Given the description of an element on the screen output the (x, y) to click on. 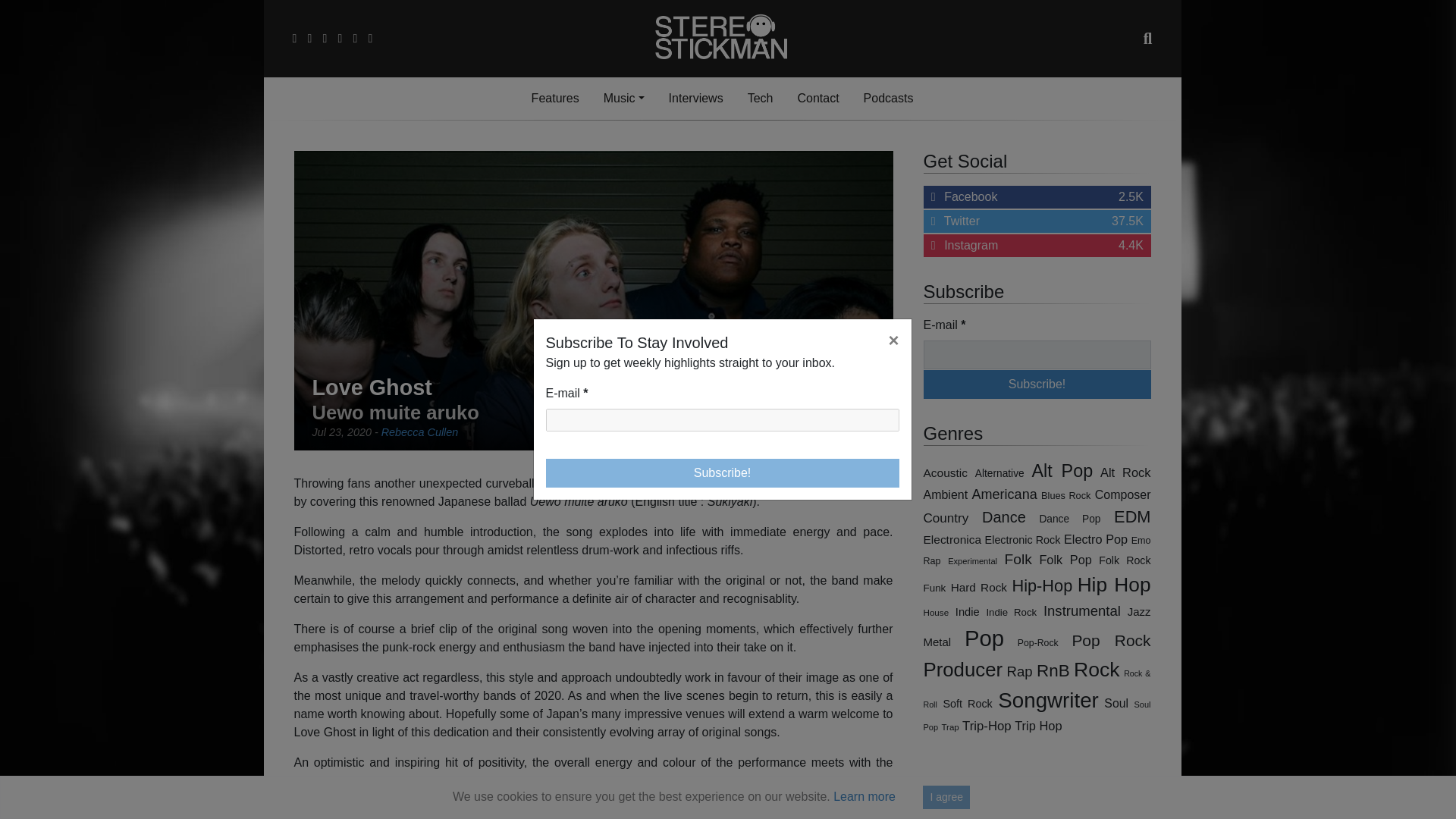
Subscribe! (1037, 384)
Music (623, 98)
Subscribe! (722, 472)
E-mail (722, 419)
Podcasts (888, 98)
Tech (1037, 245)
Features (760, 98)
Interviews (555, 98)
Tech (695, 98)
Contact (760, 98)
Music (817, 98)
E-mail (623, 98)
Interviews (1037, 354)
